Given the description of an element on the screen output the (x, y) to click on. 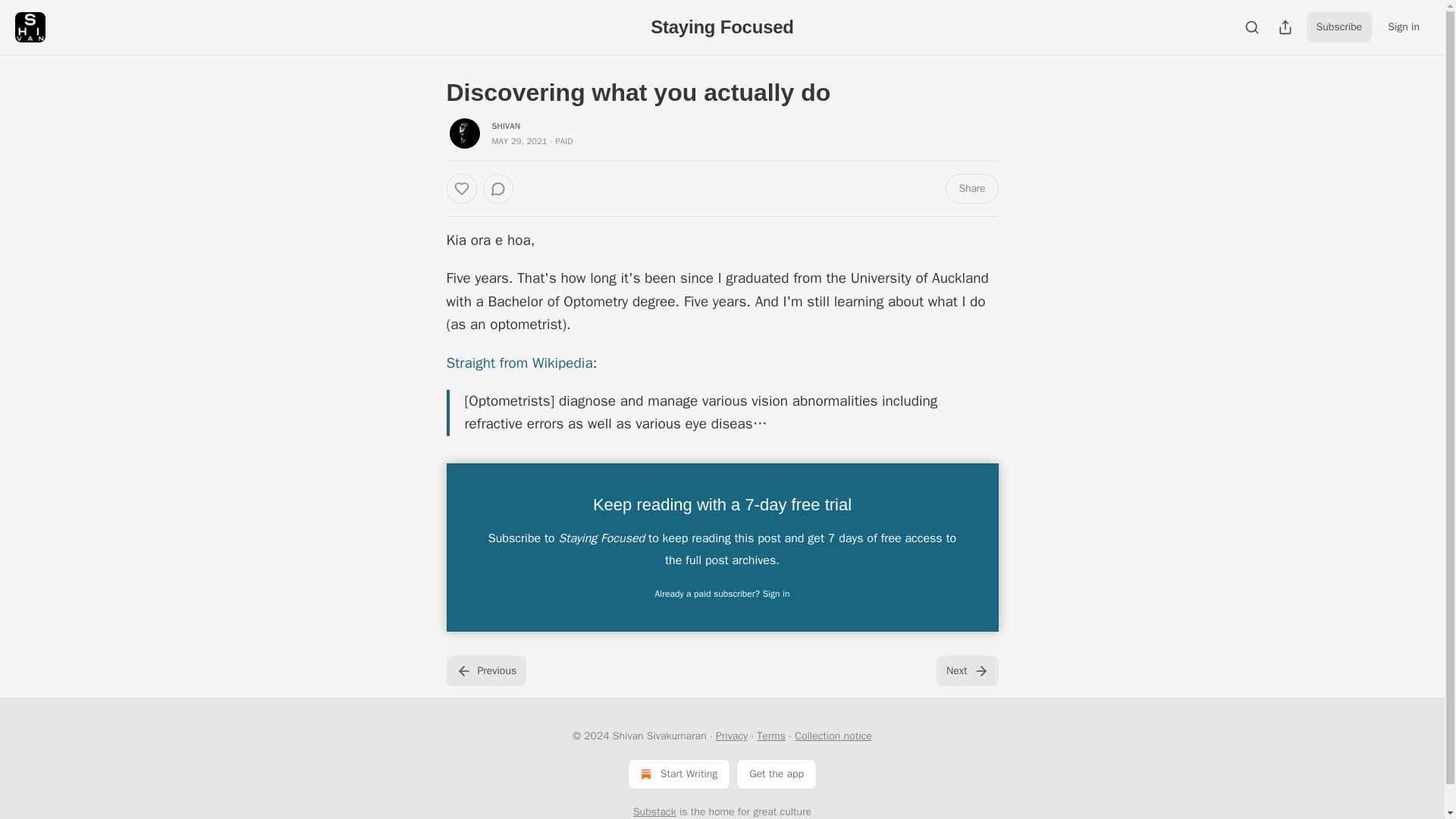
Privacy (732, 735)
Terms (771, 735)
Get the app (776, 774)
Previous (485, 671)
Share (970, 188)
SHIVAN (505, 125)
Straight from Wikipedia (518, 362)
Substack (655, 811)
Already a paid subscriber? Sign in (722, 593)
Start Writing (678, 774)
